Given the description of an element on the screen output the (x, y) to click on. 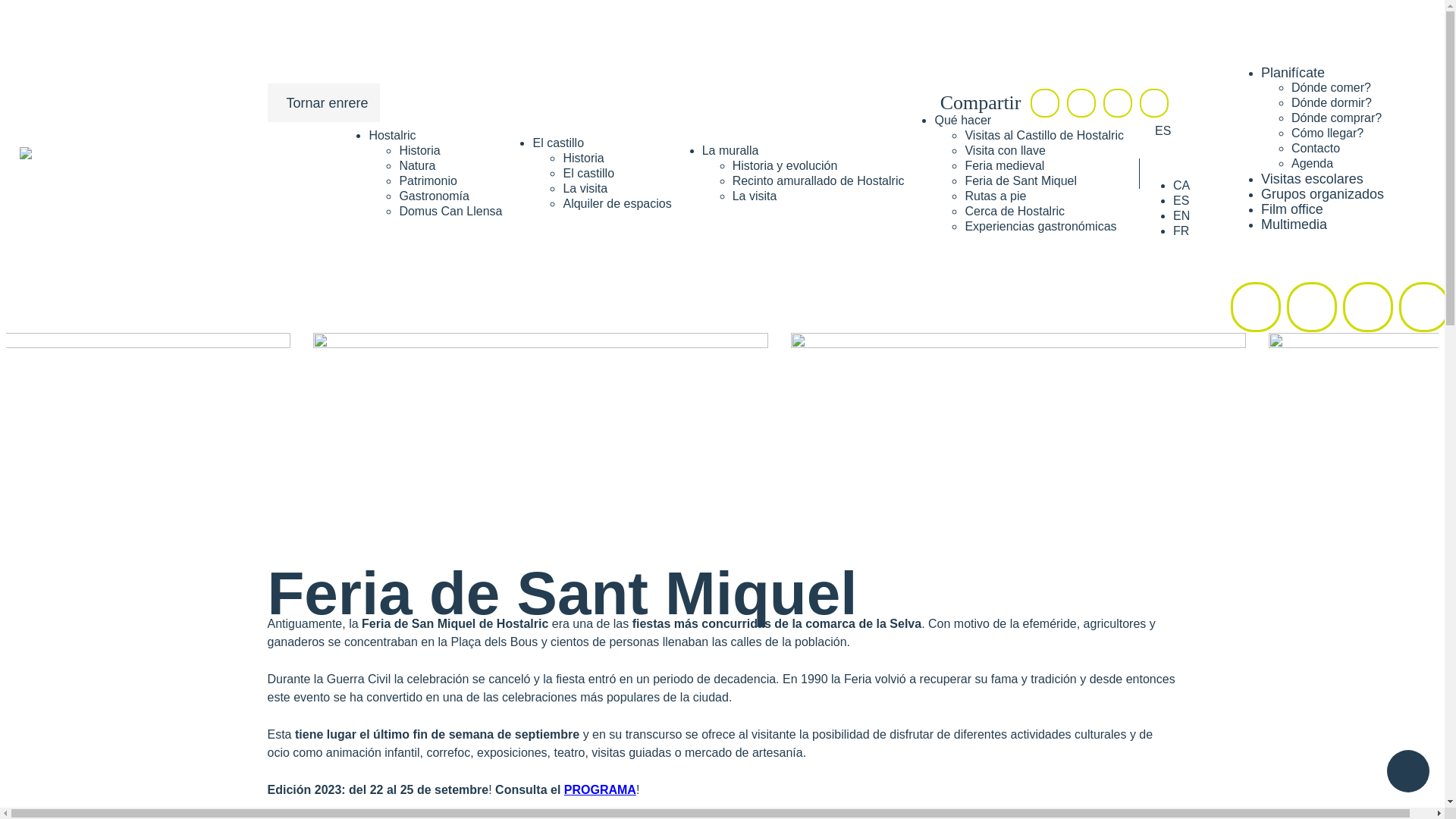
ES Element type: text (1181, 200)
Patrimonio Element type: text (427, 180)
Contacto Element type: text (1315, 147)
ES Element type: text (1162, 130)
Rutas a pie Element type: text (995, 195)
Feria de Sant Miquel Element type: text (1020, 180)
FR Element type: text (1181, 230)
Natura Element type: text (416, 165)
CA Element type: text (1181, 184)
EN Element type: text (1181, 215)
El castillo Element type: text (557, 142)
Cerca de Hostalric Element type: text (1014, 210)
La muralla Element type: text (730, 150)
Agenda Element type: text (1312, 162)
Multimedia Element type: text (1294, 224)
Turisme Hostalric web oficial Element type: hover (25, 173)
Grupos organizados Element type: text (1322, 193)
La visita Element type: text (754, 195)
La visita Element type: text (584, 188)
Historia Element type: text (582, 157)
Visita con llave Element type: text (1004, 150)
El castillo Element type: text (588, 172)
PROGRAMA Element type: text (600, 789)
Alquiler de espacios Element type: text (616, 203)
Film office Element type: text (1292, 208)
Visitas escolares Element type: text (1312, 178)
Feria medieval Element type: text (1004, 165)
Visitas al Castillo de Hostalric Element type: text (1043, 134)
Tornar enrere Element type: text (322, 102)
Historia Element type: text (418, 150)
Domus Can Llensa Element type: text (450, 210)
Hostalric Element type: text (391, 134)
Recinto amurallado de Hostalric Element type: text (818, 180)
